Given the description of an element on the screen output the (x, y) to click on. 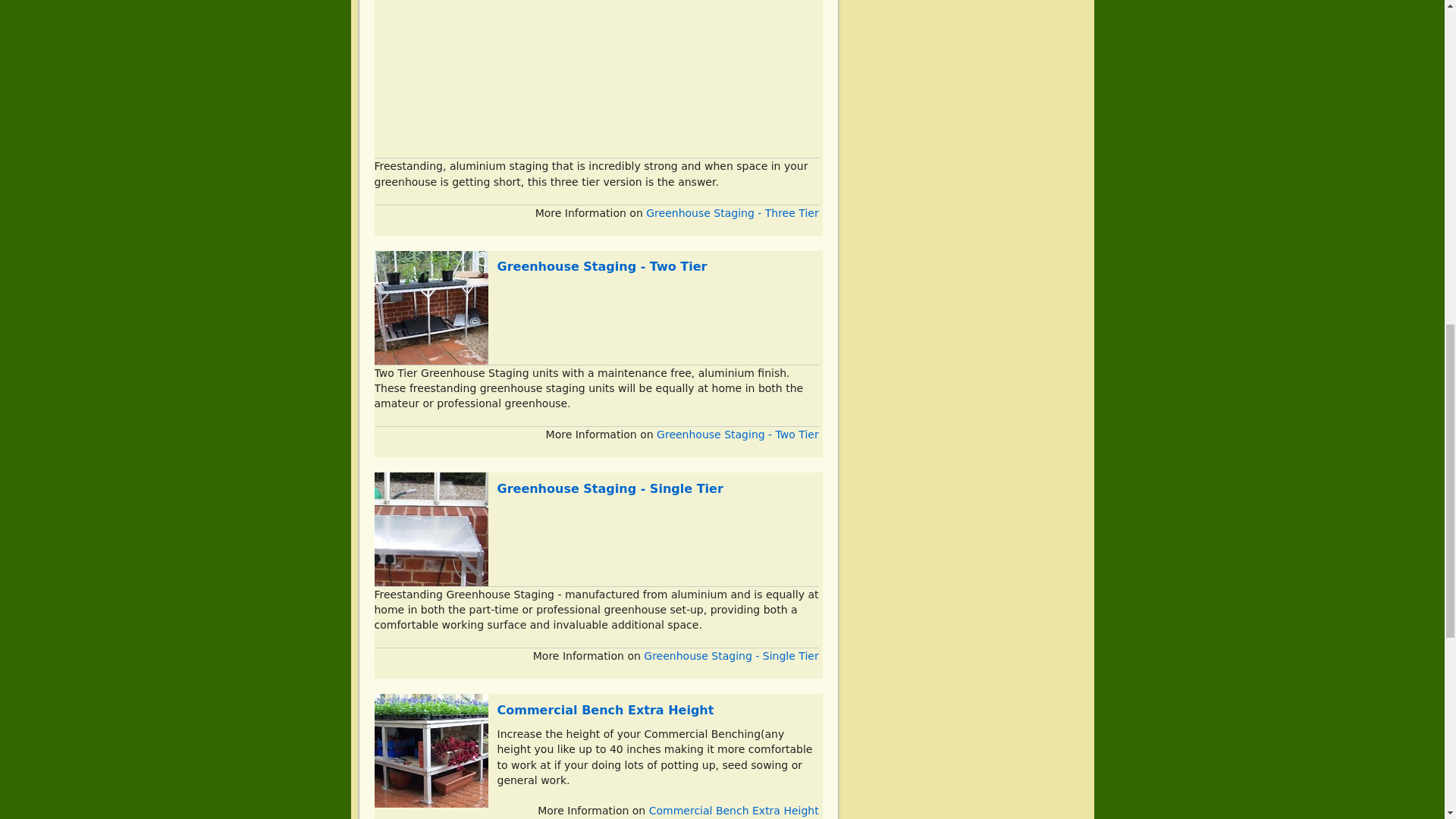
Greenhouse Staging - Two Tier (602, 266)
Greenhouse Staging - Two Tier (602, 266)
Greenhouse Staging - Three Tier (732, 213)
Greenhouse Staging - Single Tier (610, 488)
Greenhouse Staging - Two Tier (737, 434)
Greenhouse Staging - Three Tier (732, 213)
Advertisement (596, 79)
Greenhouse Staging - Single Tier (730, 655)
